Given the description of an element on the screen output the (x, y) to click on. 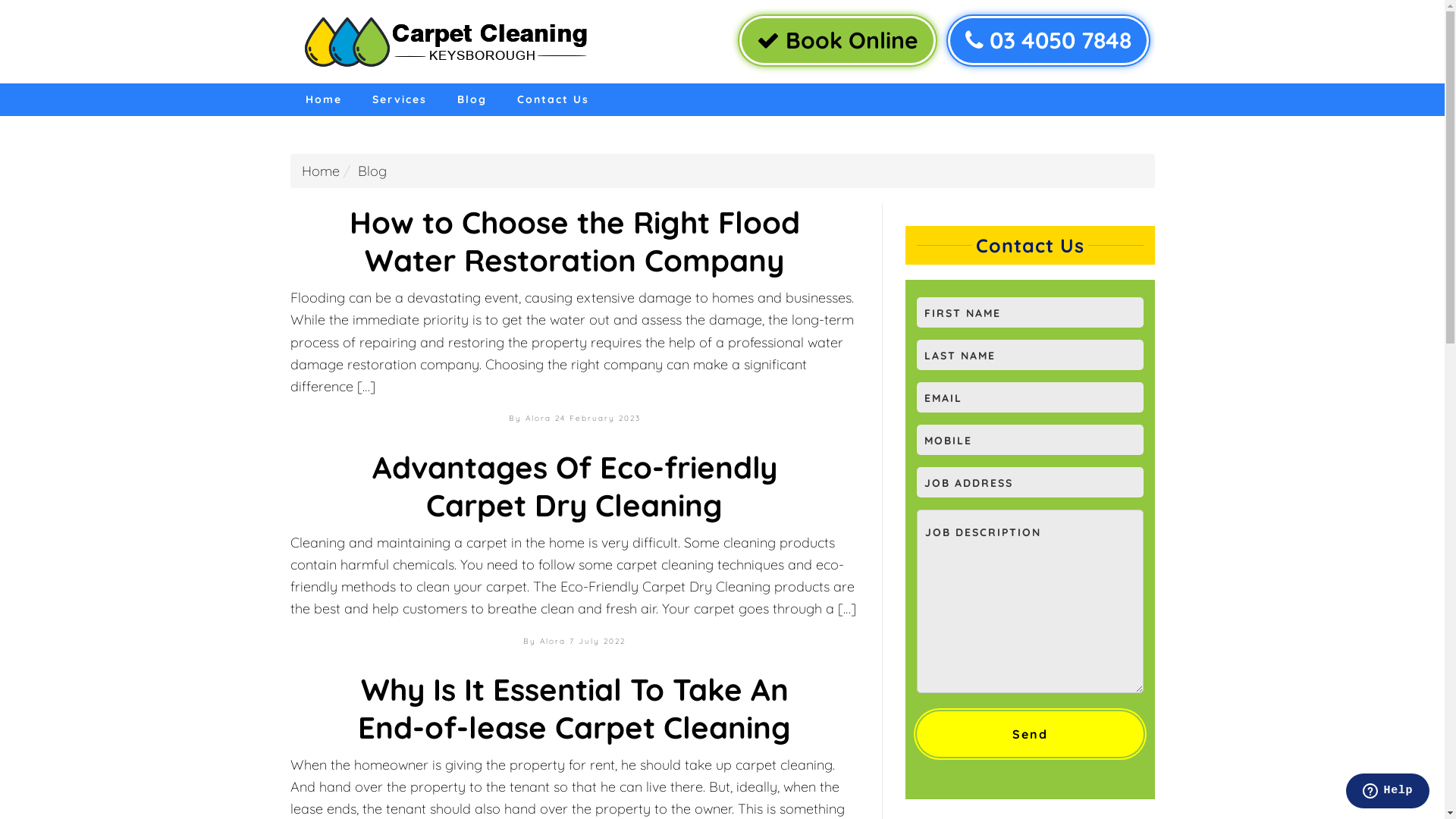
Home Element type: text (322, 99)
Send Element type: text (1029, 733)
Contact Us Element type: text (553, 99)
How to Choose the Right Flood Water Restoration Company Element type: text (573, 241)
Advantages Of Eco-friendly Carpet Dry Cleaning Element type: text (573, 485)
Blog Element type: text (371, 170)
Why Is It Essential To Take An End-of-lease Carpet Cleaning Element type: text (573, 708)
03 4050 7848 Element type: text (1048, 40)
Blog Element type: text (471, 99)
Book Online Element type: text (836, 40)
Services Element type: text (398, 99)
Opens a widget where you can chat to one of our agents Element type: hover (1387, 792)
Home Element type: text (320, 170)
